Given the description of an element on the screen output the (x, y) to click on. 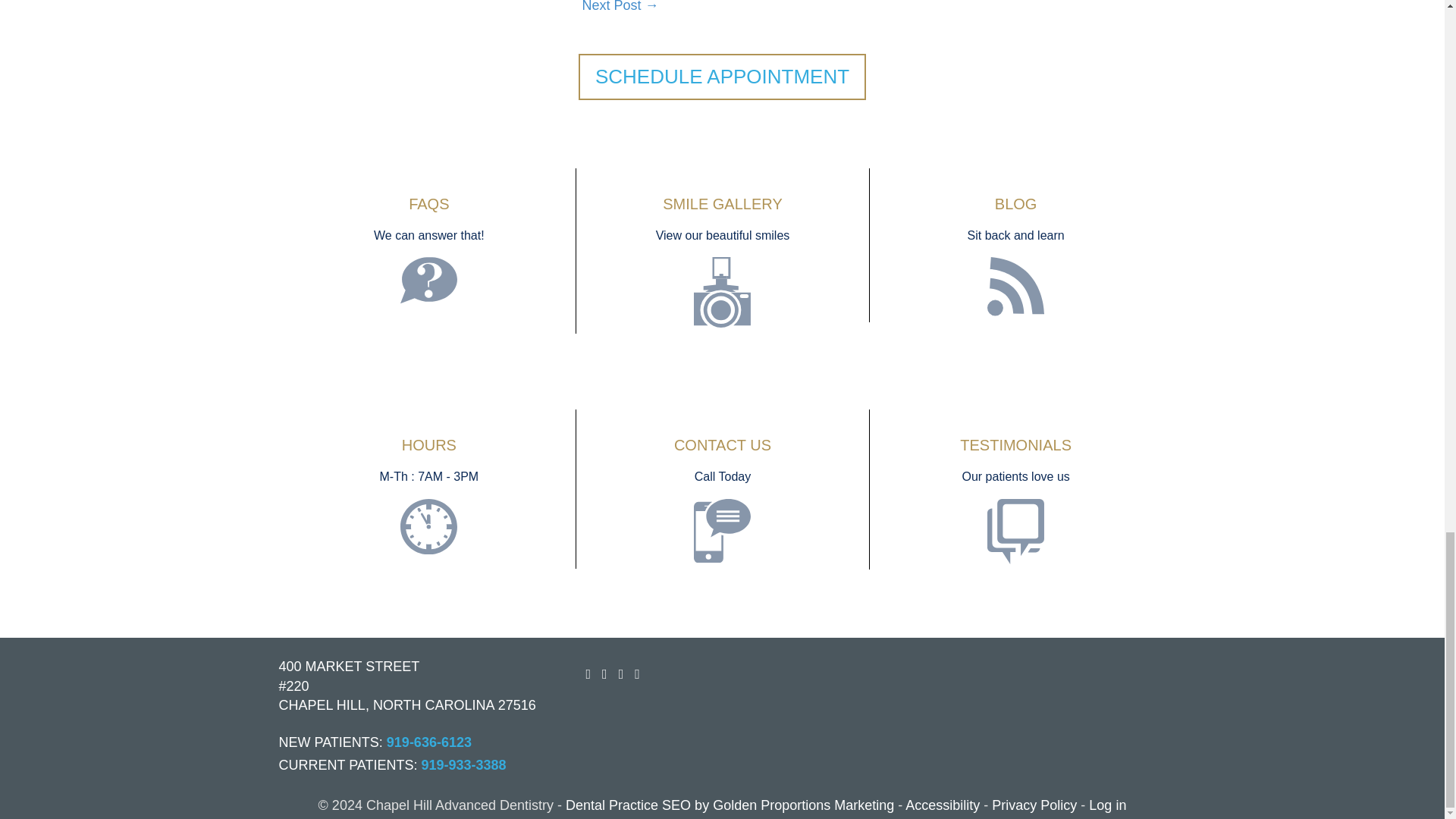
icons (428, 526)
text-bubble (428, 280)
phone (722, 530)
icons (1015, 286)
